Given the description of an element on the screen output the (x, y) to click on. 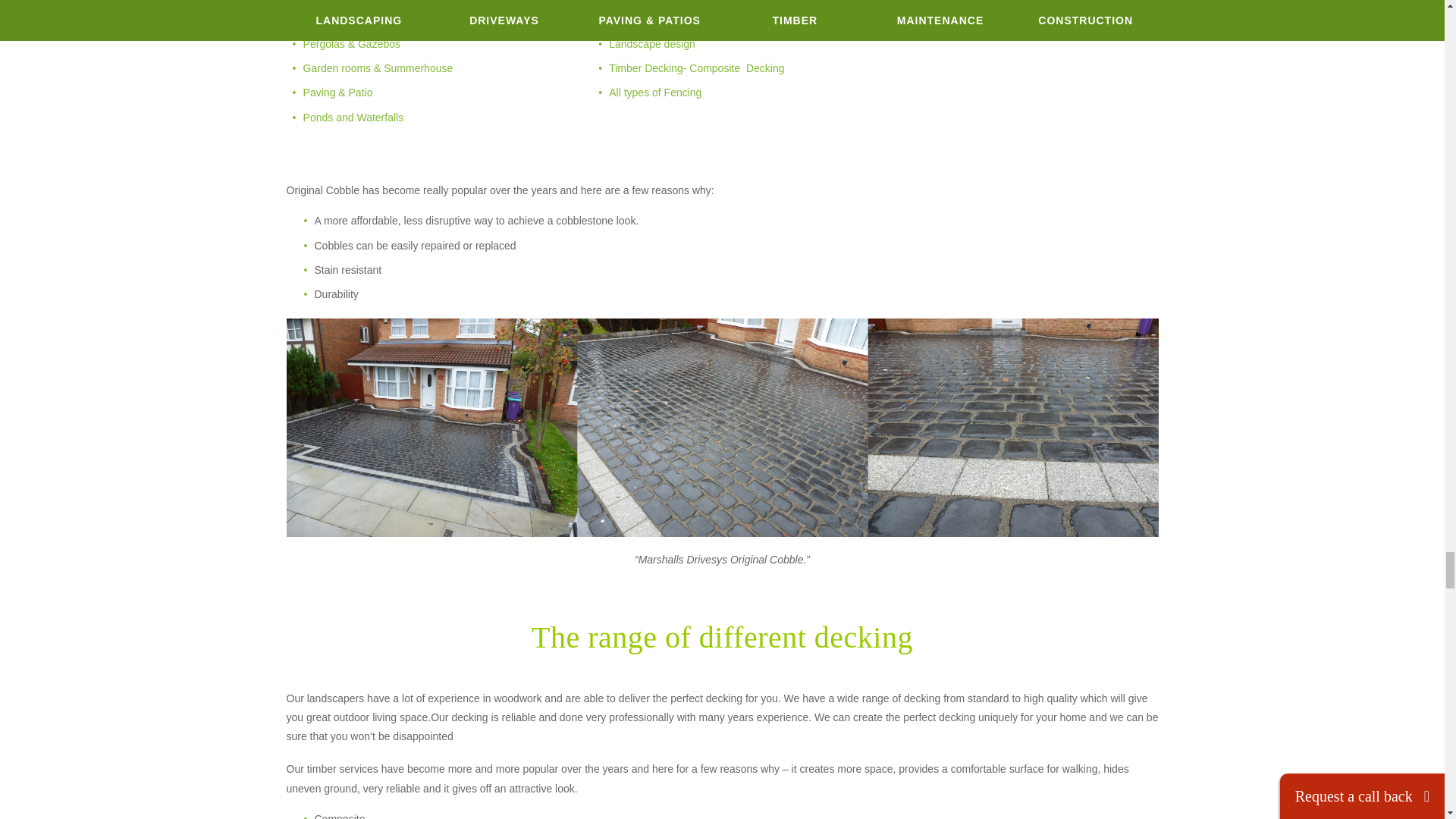
Circular Lawns (643, 1)
Landscape design (651, 43)
Decorative Walling (652, 19)
All types of Fencing (654, 92)
Ponds and Waterfalls (353, 117)
Timber Decking- Composite  Decking (696, 68)
